Given the description of an element on the screen output the (x, y) to click on. 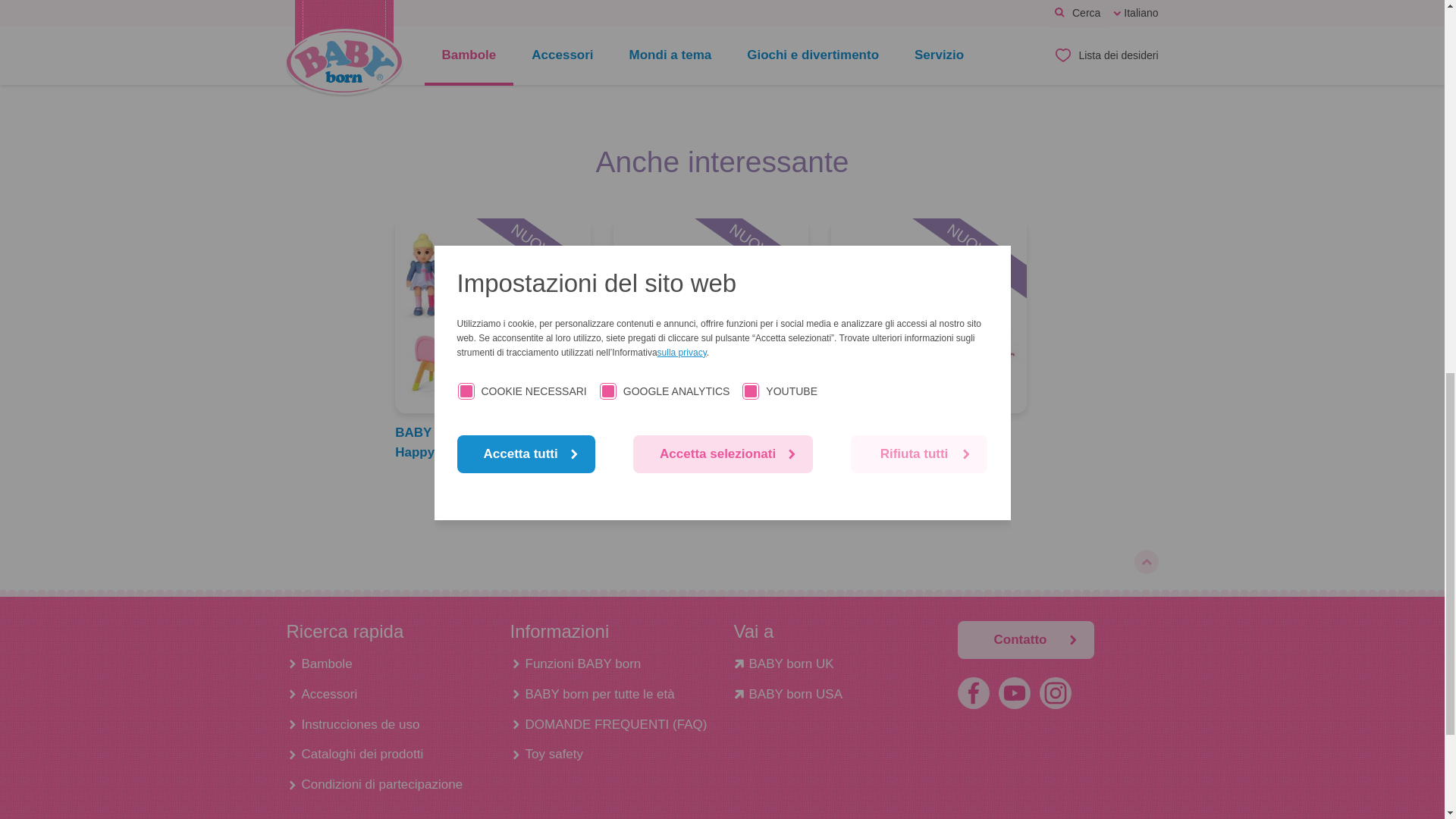
BABY born Minis - Playset Summertime (929, 442)
BABY born Minis - Playset Horse Fun (710, 442)
BABY born Minis - Playset Happy Birthday (492, 316)
BABY born Minis - Playset Summertime (928, 316)
BABY born Minis - Playset Horse Fun (710, 316)
BABY born Minis - Playset Happy Birthday (492, 442)
